Given the description of an element on the screen output the (x, y) to click on. 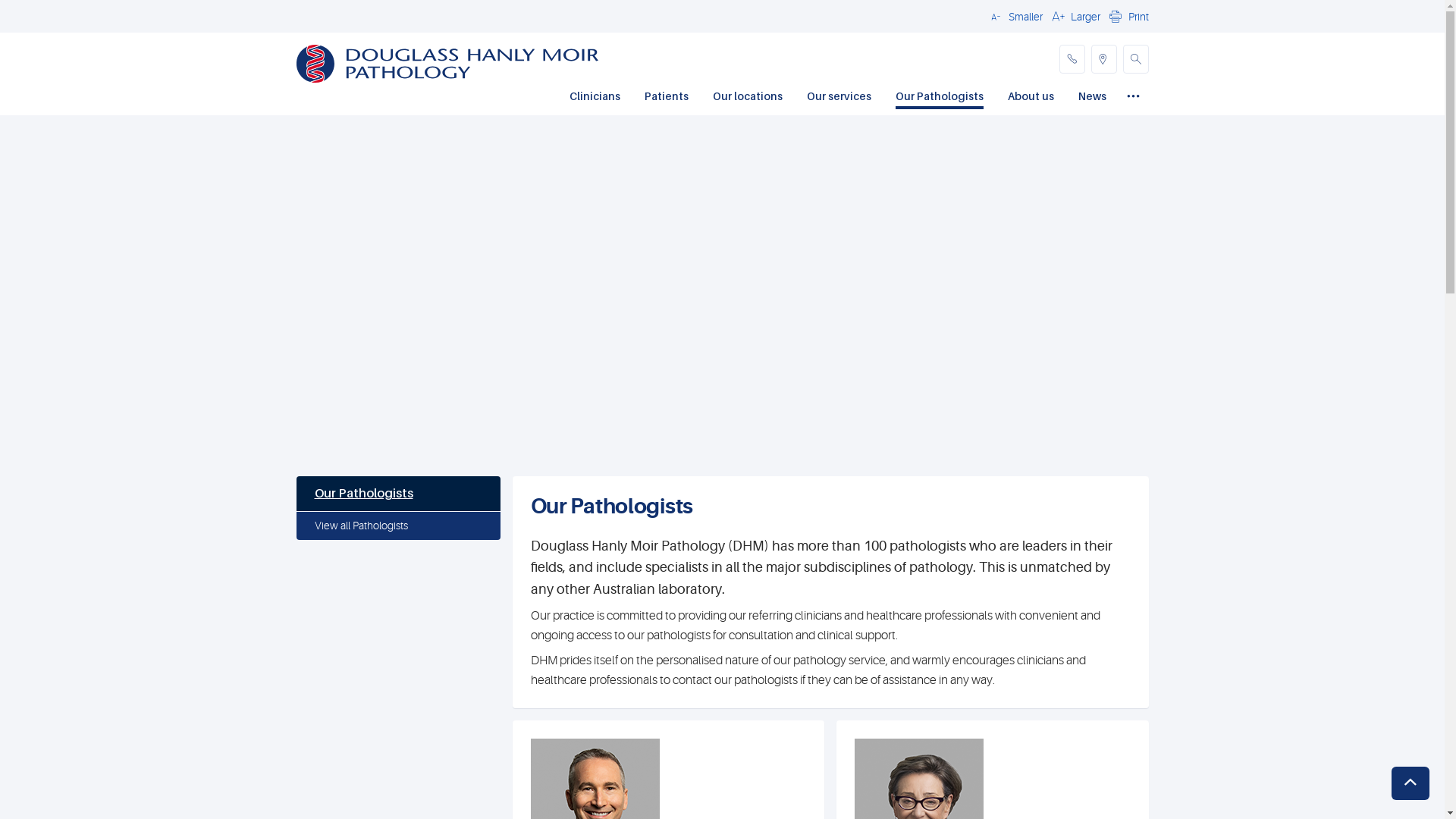
Print Element type: text (1126, 15)
Patients Element type: text (666, 97)
Our Pathologists Element type: text (397, 493)
About us Element type: text (1030, 97)
Clinicians Element type: text (593, 97)
Smaller Element type: text (1013, 15)
Our locations Element type: text (747, 97)
View all Pathologists Element type: text (397, 525)
location Element type: hover (1103, 58)
phone Element type: hover (1071, 58)
Our Pathologists Element type: text (938, 97)
Our services Element type: text (838, 97)
Larger Element type: text (1073, 15)
News Element type: text (1092, 97)
